Given the description of an element on the screen output the (x, y) to click on. 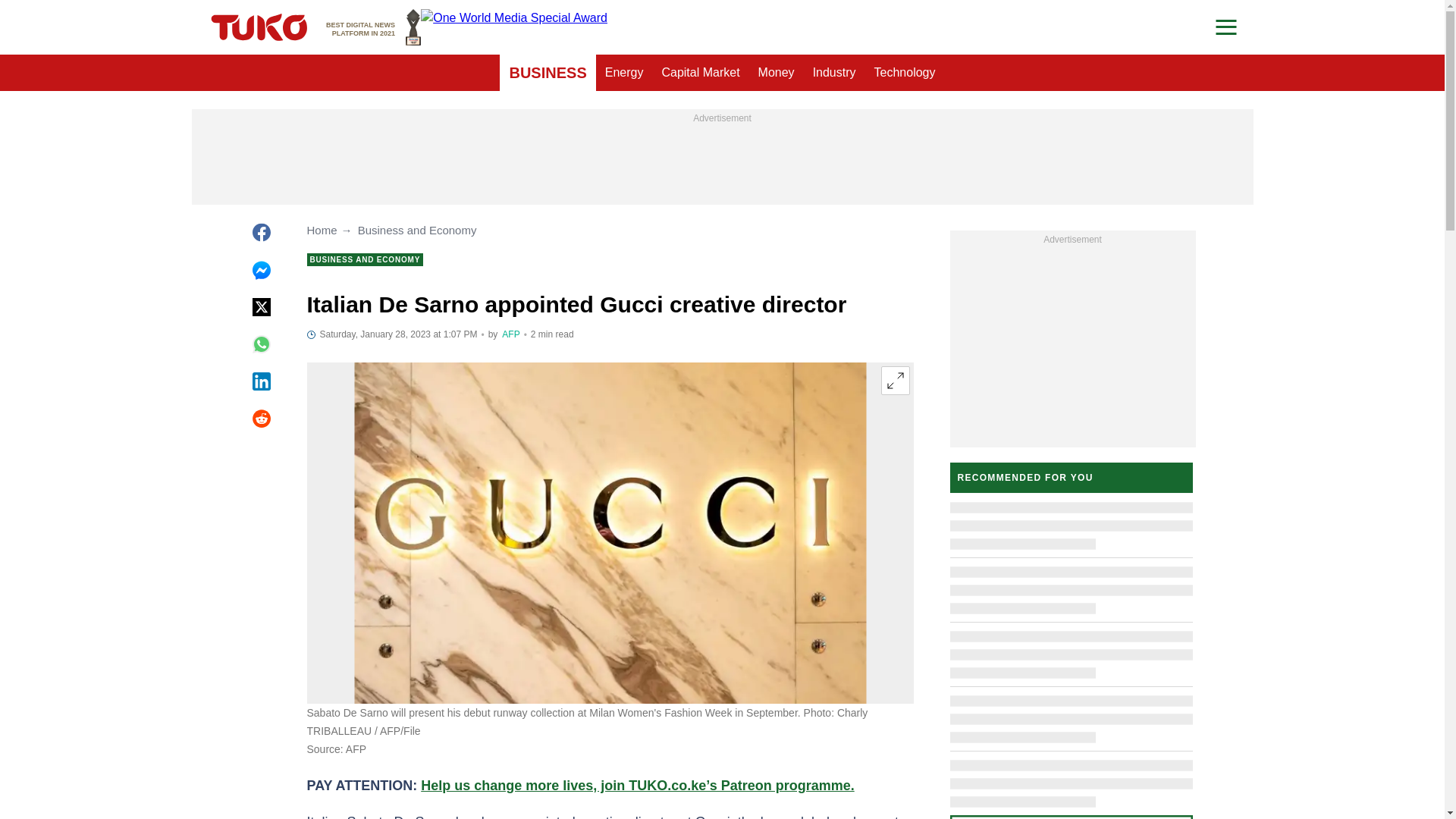
Industry (373, 27)
Author page (833, 72)
Technology (510, 334)
Energy (904, 72)
BUSINESS (623, 72)
Capital Market (547, 72)
Money (700, 72)
Expand image (776, 72)
